Given the description of an element on the screen output the (x, y) to click on. 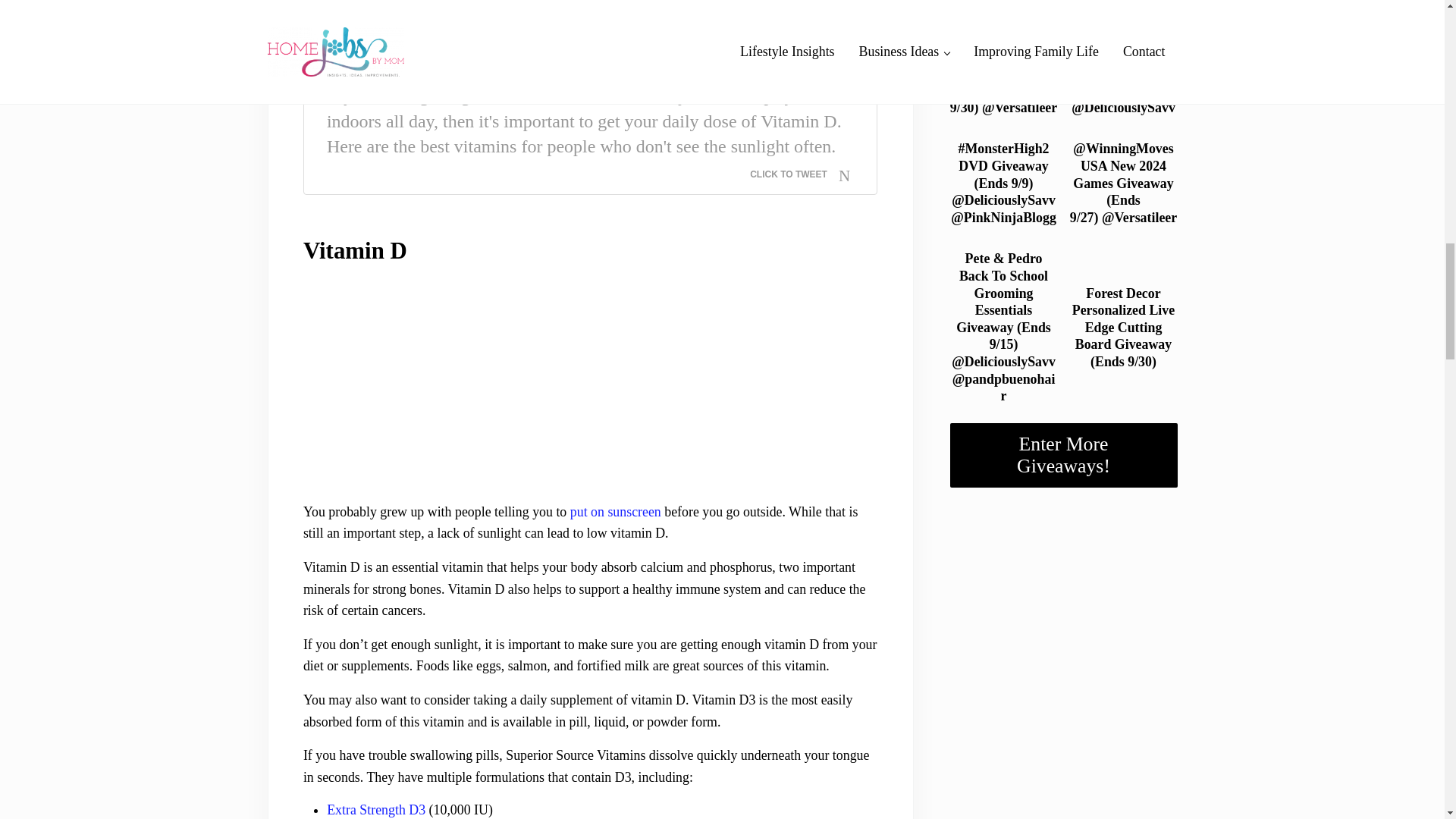
essential for your health (589, 11)
put on sunscreen (615, 511)
Extra Strength D3 (375, 809)
